Given the description of an element on the screen output the (x, y) to click on. 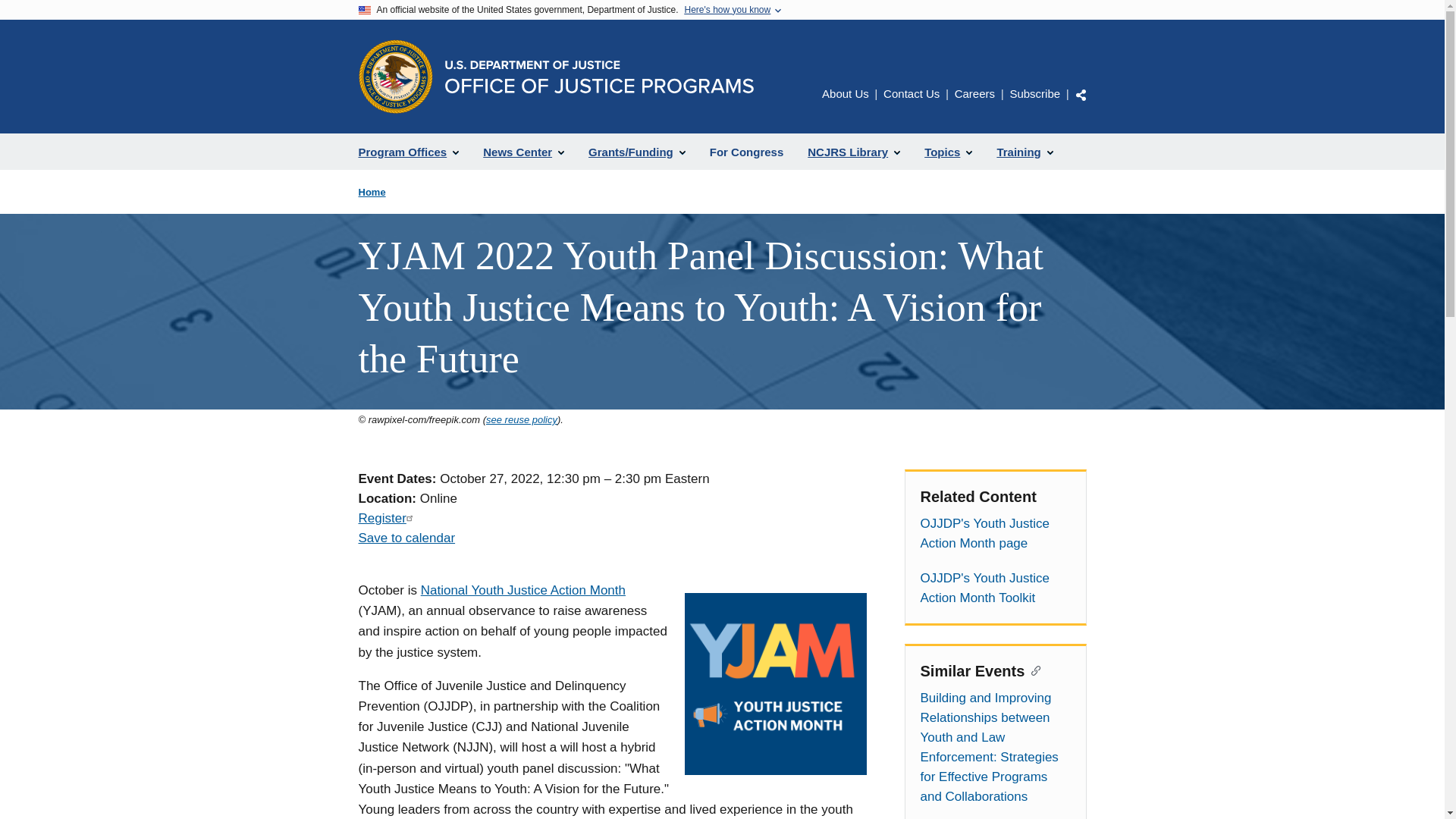
OJJDP's Youth Justice Action Month page  (995, 533)
Home (371, 192)
Share (1080, 94)
Save to calendar (406, 537)
Copy link to section: Similar Events (1033, 669)
OJJDP's Youth Justice Action Month Toolkit  (995, 588)
OJJDP's Youth Justice Action Month Toolkit (995, 588)
Choose a social sharing platform (1080, 94)
Subscribe (1034, 93)
National Youth Justice Action Month (523, 590)
National Youth Justice Action Month (523, 590)
OJJDP's Youth Justice Action Month page (995, 533)
see reuse policy (521, 419)
